Given the description of an element on the screen output the (x, y) to click on. 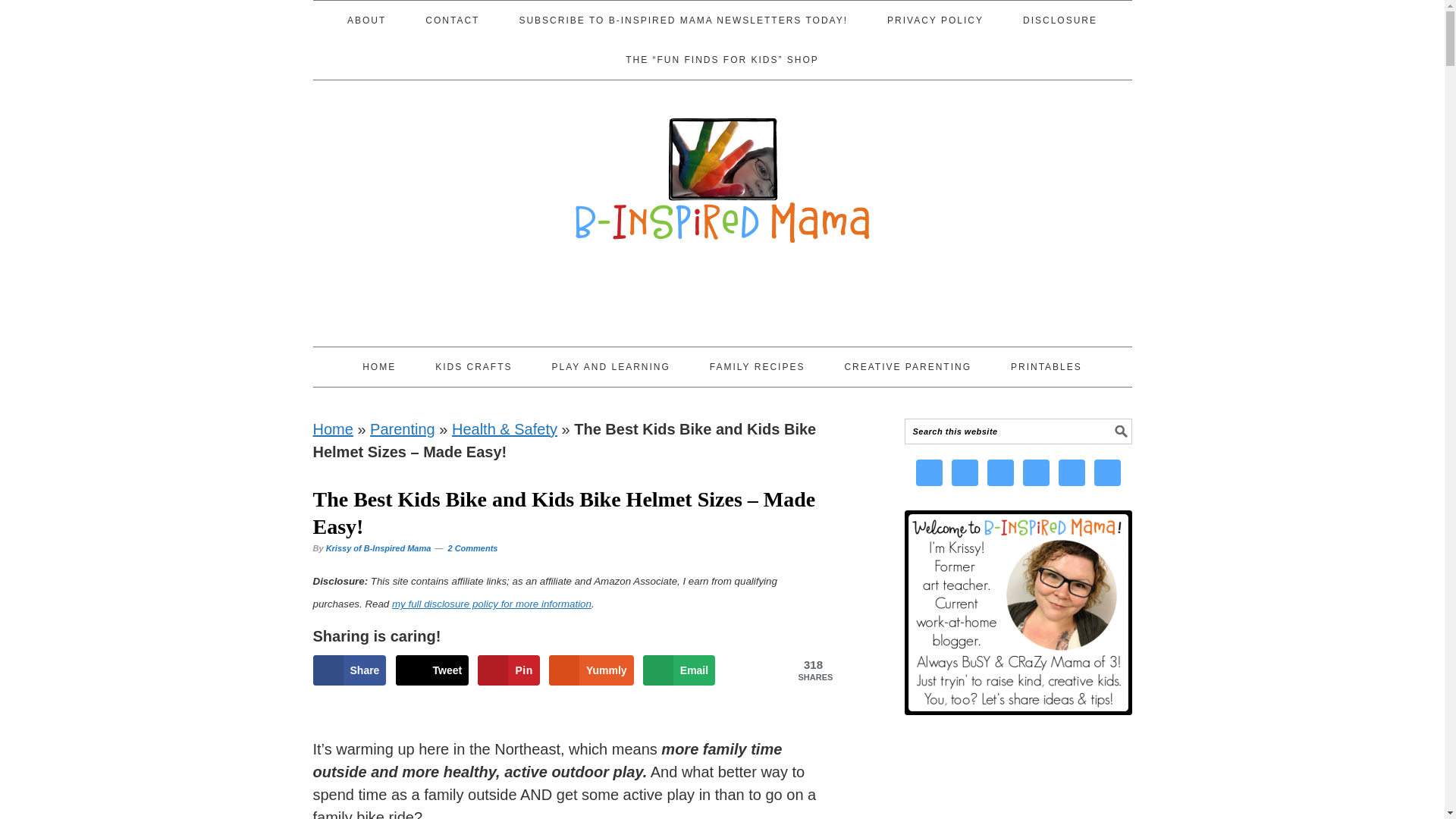
CONTACT (451, 20)
B-INSPIRED MAMA (722, 172)
SUBSCRIBE TO B-INSPIRED MAMA NEWSLETTERS TODAY! (682, 20)
ABOUT (366, 20)
PRIVACY POLICY (935, 20)
Share on X (432, 670)
PLAY AND LEARNING (610, 366)
FAMILY RECIPES (757, 366)
